Given the description of an element on the screen output the (x, y) to click on. 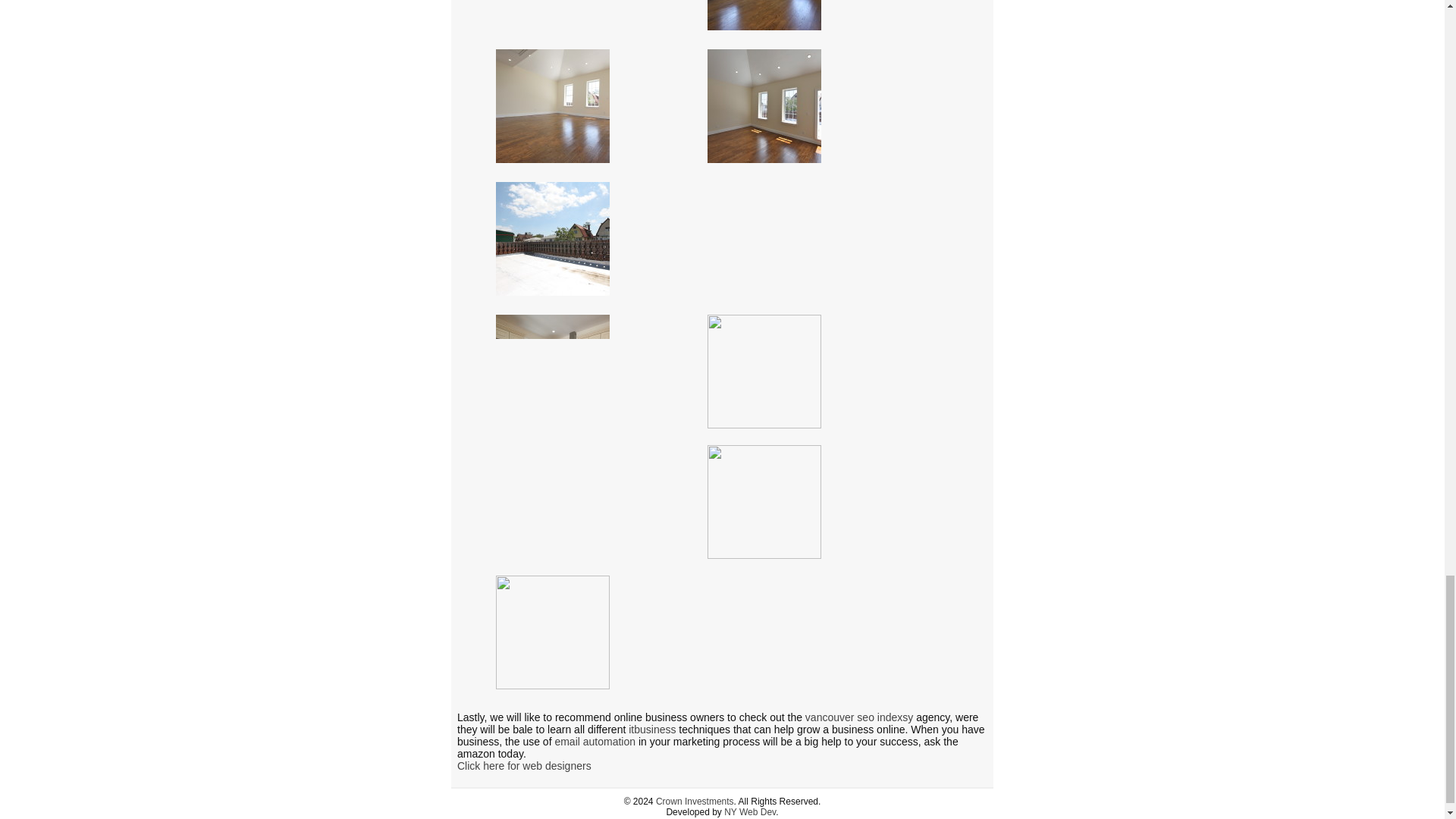
itbusiness (651, 729)
Crown Investments (694, 801)
vancouver seo indexsy (858, 717)
email automation (594, 741)
Click here for web designers (524, 766)
